Given the description of an element on the screen output the (x, y) to click on. 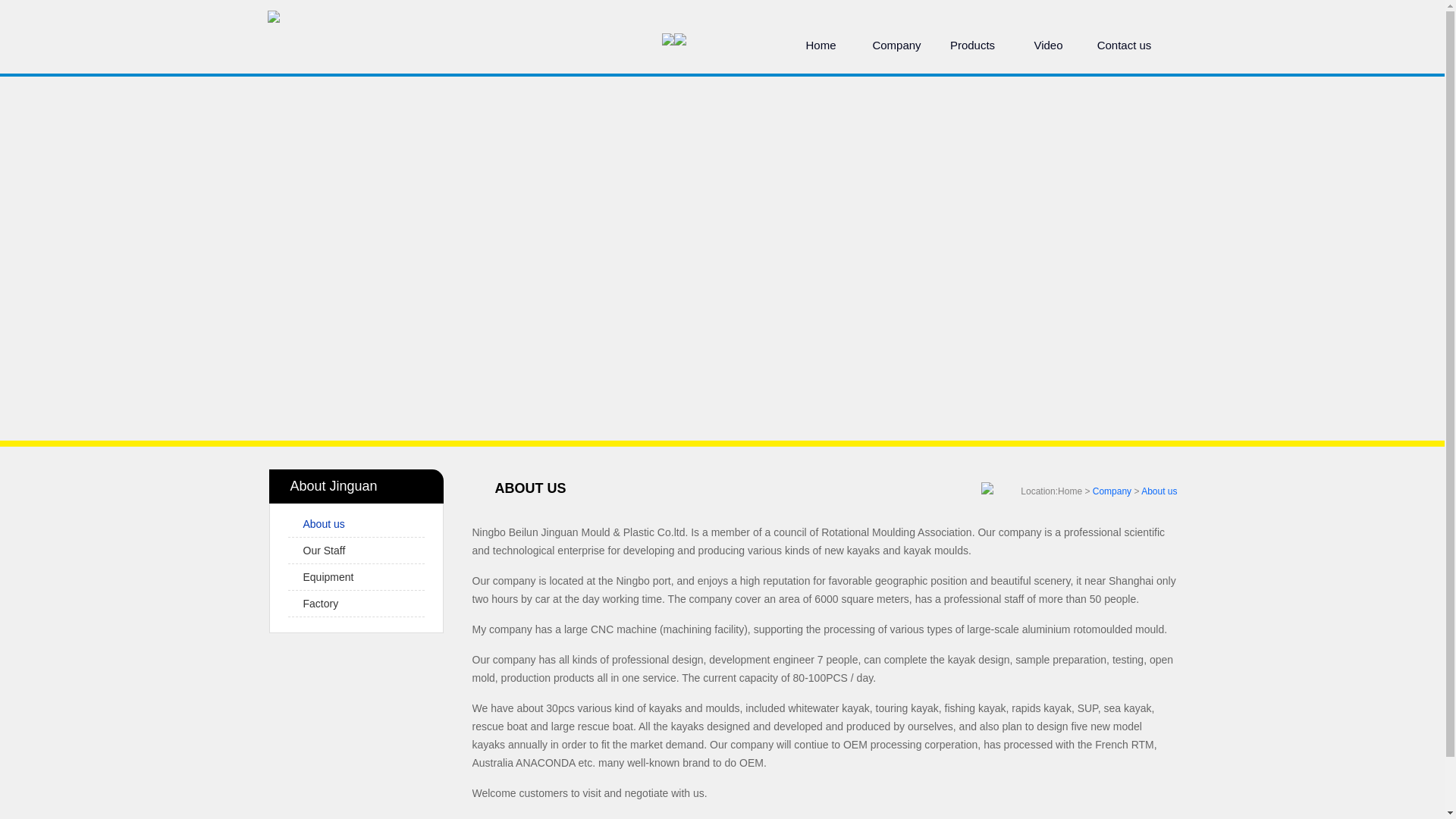
Video (1048, 45)
Home (821, 45)
Company (1112, 491)
About us (323, 523)
About us (1158, 491)
Products (972, 45)
Company (896, 45)
About us (323, 523)
Our Staff (324, 550)
Equipment (327, 576)
Contact us (1123, 45)
Factory (320, 603)
Factory (320, 603)
Our Staff (324, 550)
Home (1069, 491)
